Given the description of an element on the screen output the (x, y) to click on. 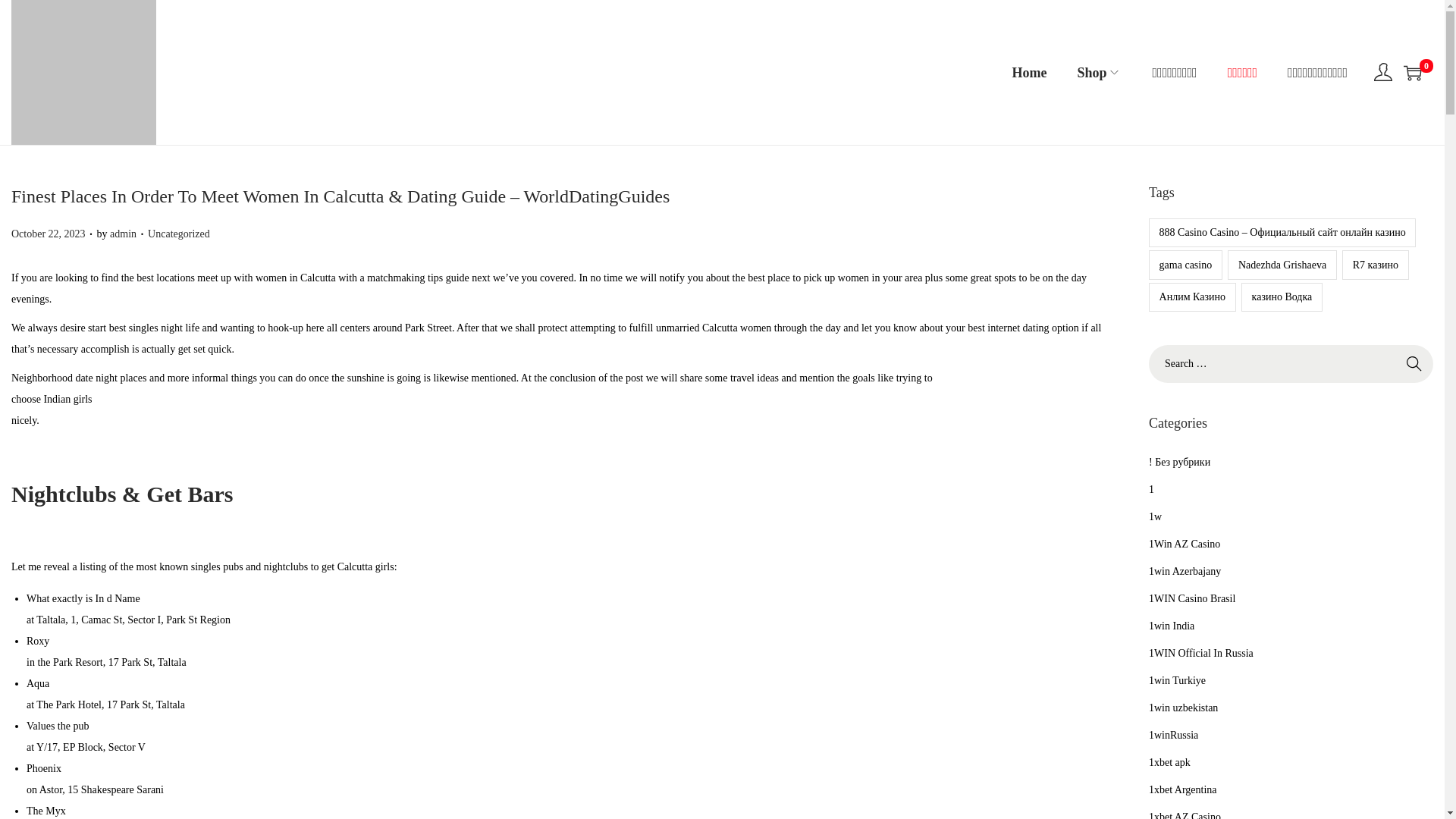
October 22, 2023 (48, 233)
Search (1413, 363)
gama casino (1185, 264)
Uncategorized (178, 233)
Nadezhda Grishaeva (1281, 264)
admin (123, 233)
0 (1412, 72)
Search (1413, 363)
Search (1413, 363)
